Given the description of an element on the screen output the (x, y) to click on. 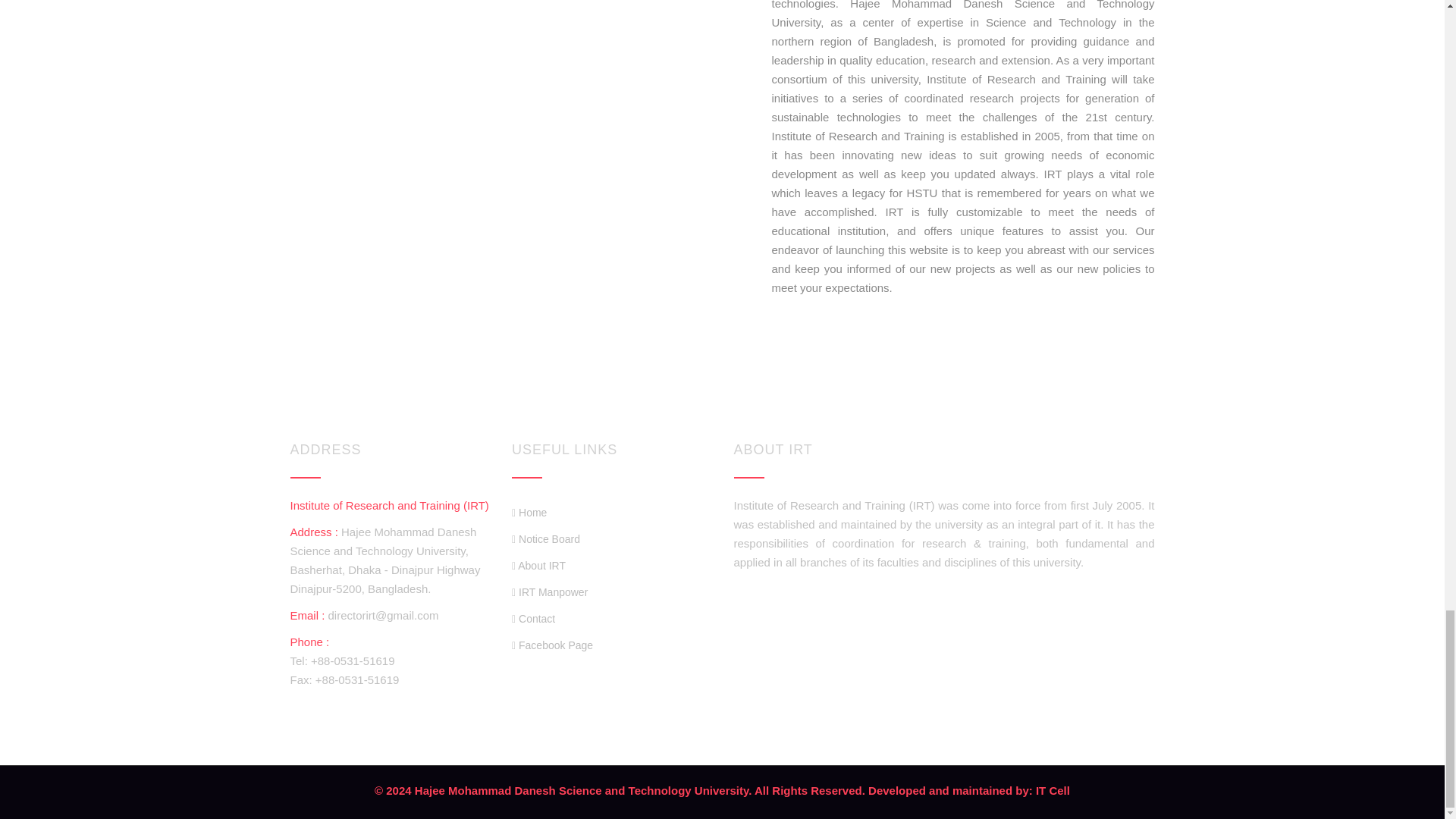
Home (529, 512)
Notice Board (545, 538)
Contact (533, 618)
About IRT (539, 565)
Facebook Page (552, 645)
IRT Manpower (550, 592)
